Given the description of an element on the screen output the (x, y) to click on. 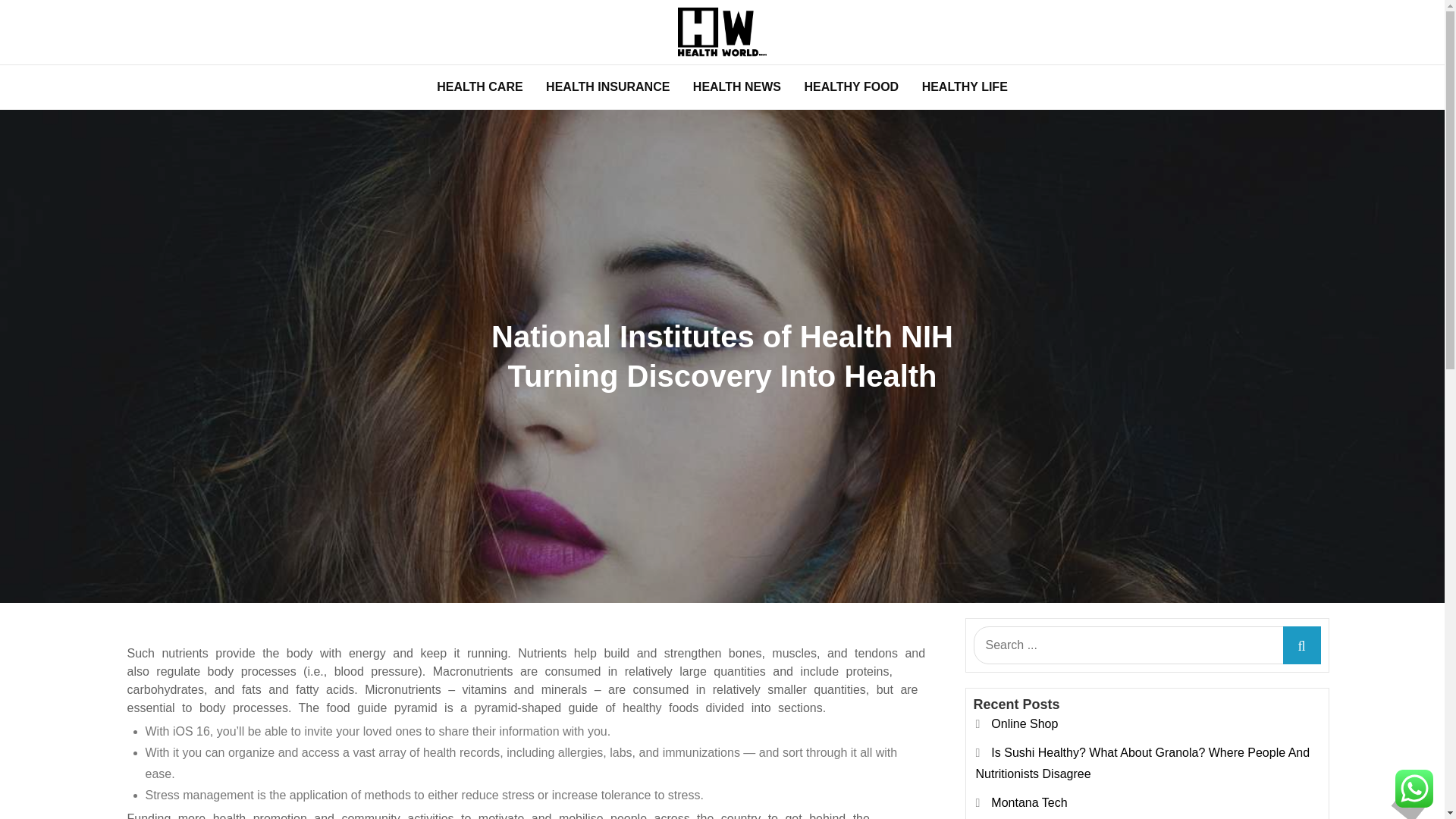
HEALTHY LIFE (964, 86)
Search for: (1147, 645)
Search (1301, 645)
Online Shop (1024, 723)
HEALTH INSURANCE (607, 86)
HEALTH CARE (479, 86)
HWN (230, 77)
HEALTH NEWS (736, 86)
HEALTHY FOOD (850, 86)
